Given the description of an element on the screen output the (x, y) to click on. 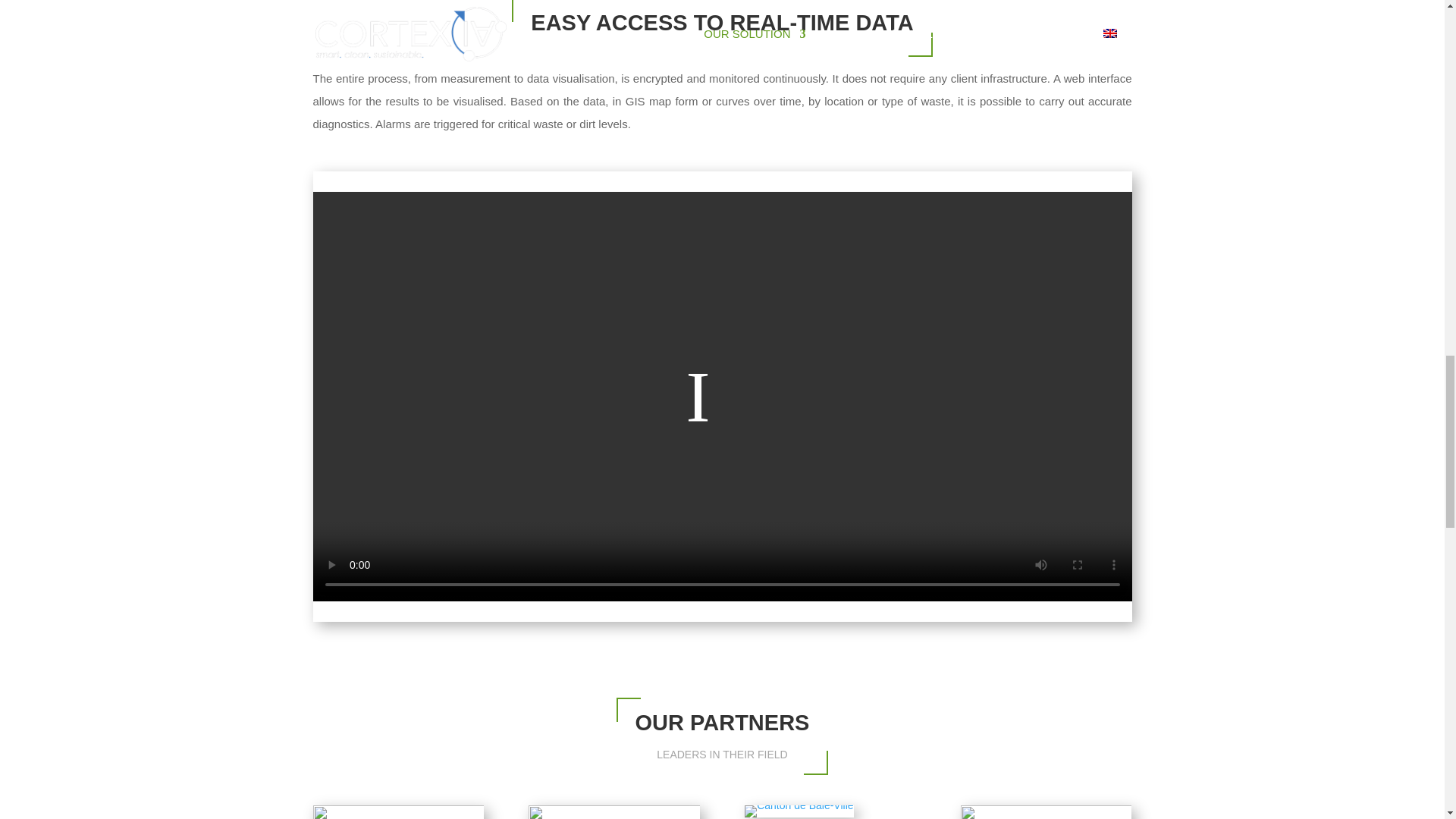
Kanton-Basel-Stadt-v4 (798, 811)
